Given the description of an element on the screen output the (x, y) to click on. 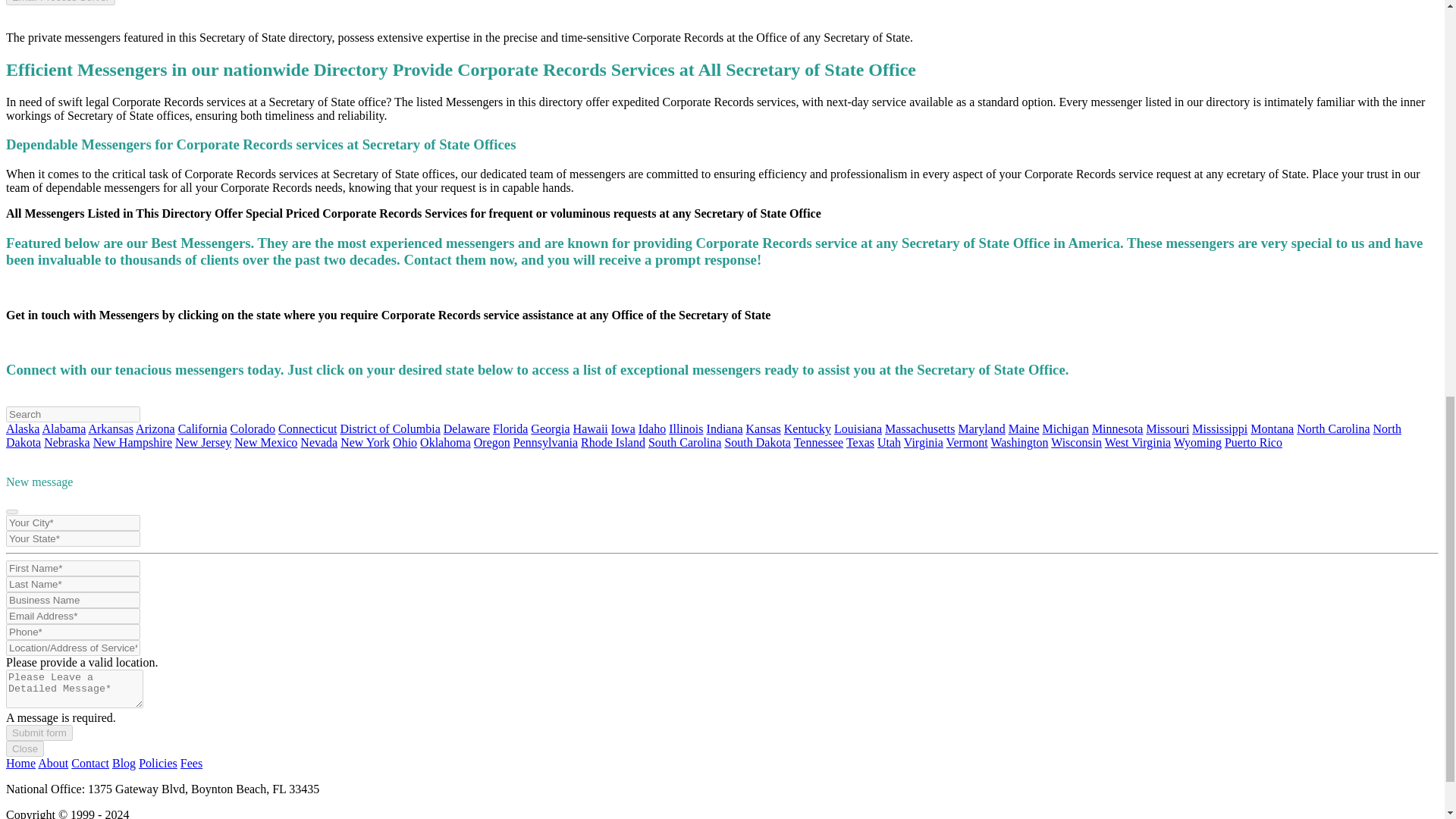
Massachusetts (920, 428)
Illinois (685, 428)
Email Process Server (60, 2)
Connecticut (307, 428)
California (202, 428)
Florida (510, 428)
Idaho (652, 428)
Louisiana (858, 428)
Arkansas (110, 428)
Alaska (22, 428)
Iowa (622, 428)
Hawaii (590, 428)
Colorado (253, 428)
Arizona (154, 428)
Alabama (63, 428)
